Given the description of an element on the screen output the (x, y) to click on. 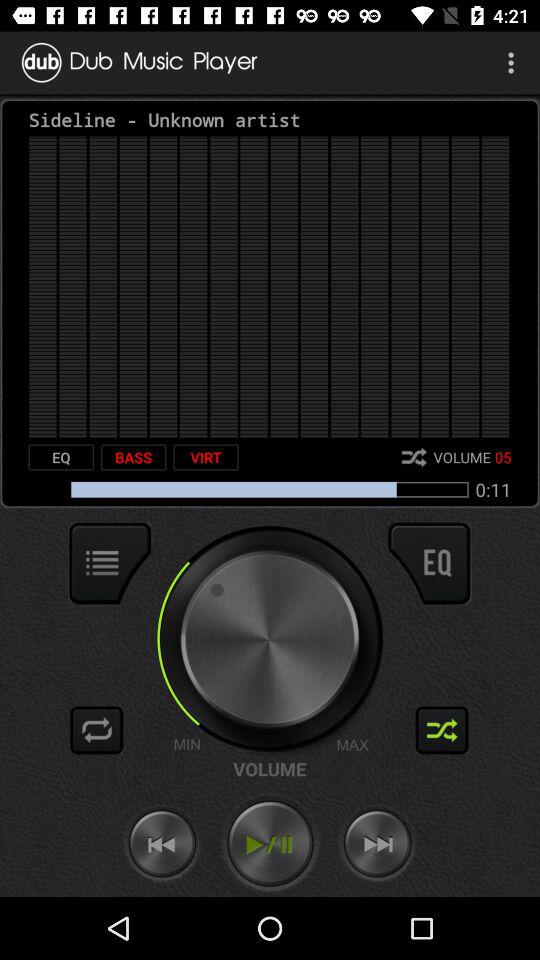
open the item below 0:11 item (429, 563)
